Given the description of an element on the screen output the (x, y) to click on. 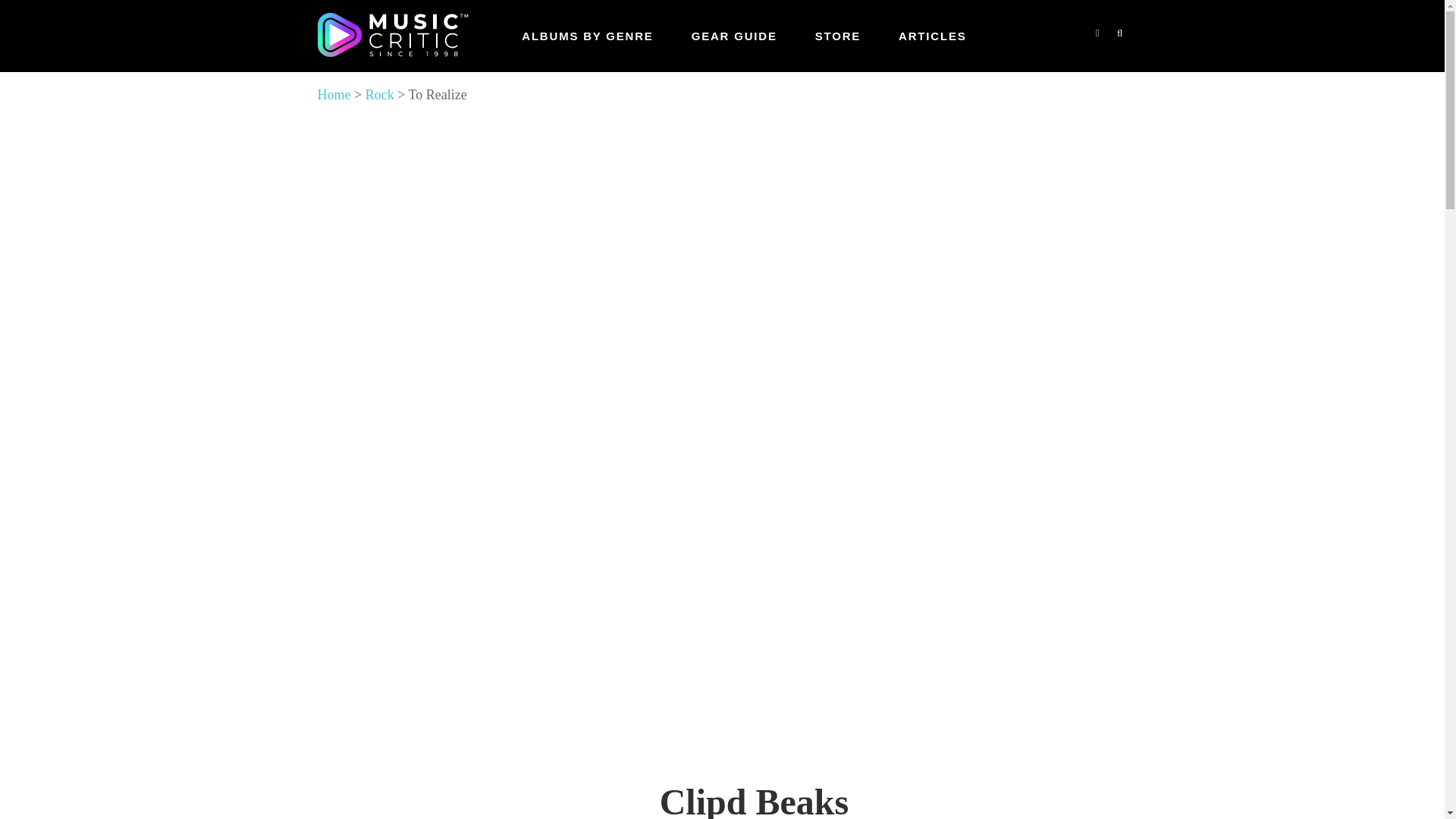
Home (333, 94)
ALBUMS BY GENRE (586, 35)
ARTICLES (932, 35)
GEAR GUIDE (734, 35)
STORE (837, 35)
